Given the description of an element on the screen output the (x, y) to click on. 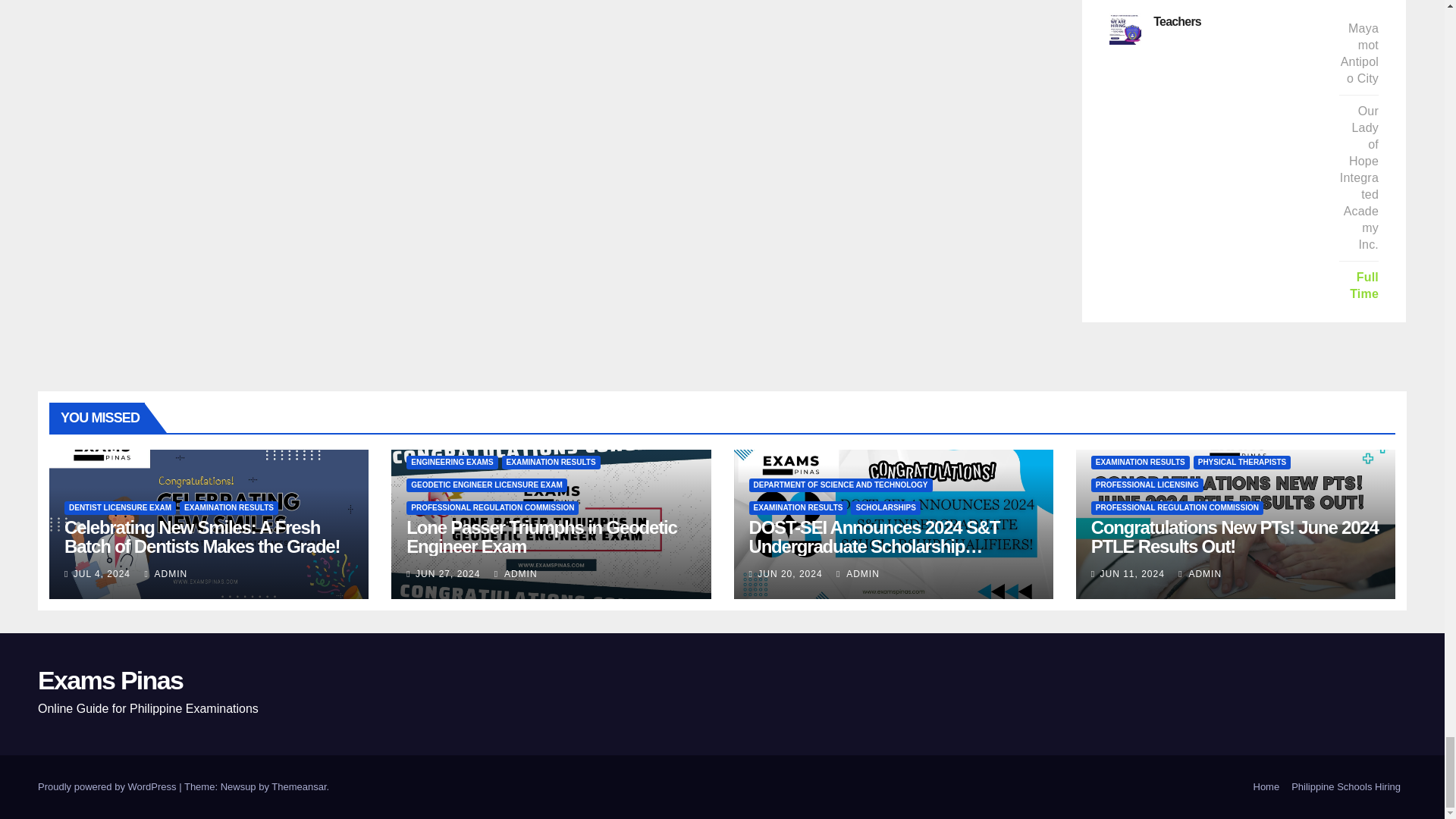
Permalink to: Lone Passer Triumphs in Geodetic Engineer Exam (541, 536)
Home (1265, 786)
